Given the description of an element on the screen output the (x, y) to click on. 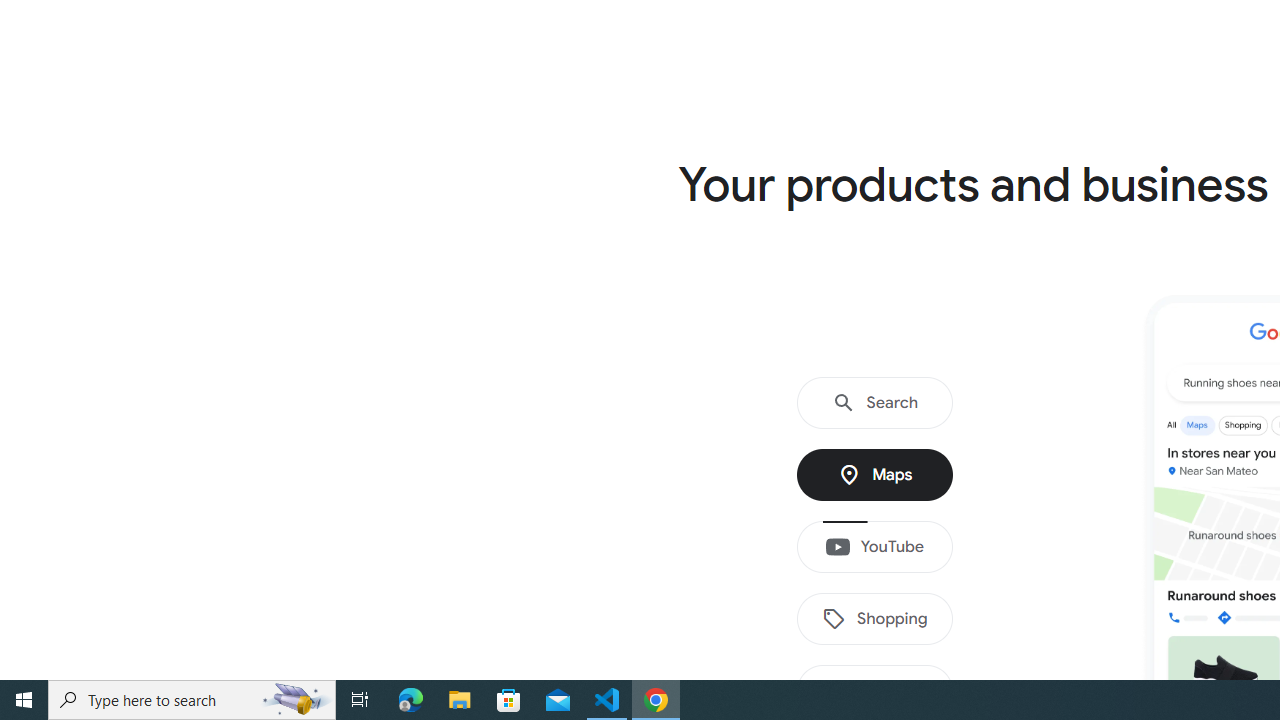
Shopping (875, 619)
Images (875, 691)
Maps (875, 475)
YouTube (875, 547)
